Given the description of an element on the screen output the (x, y) to click on. 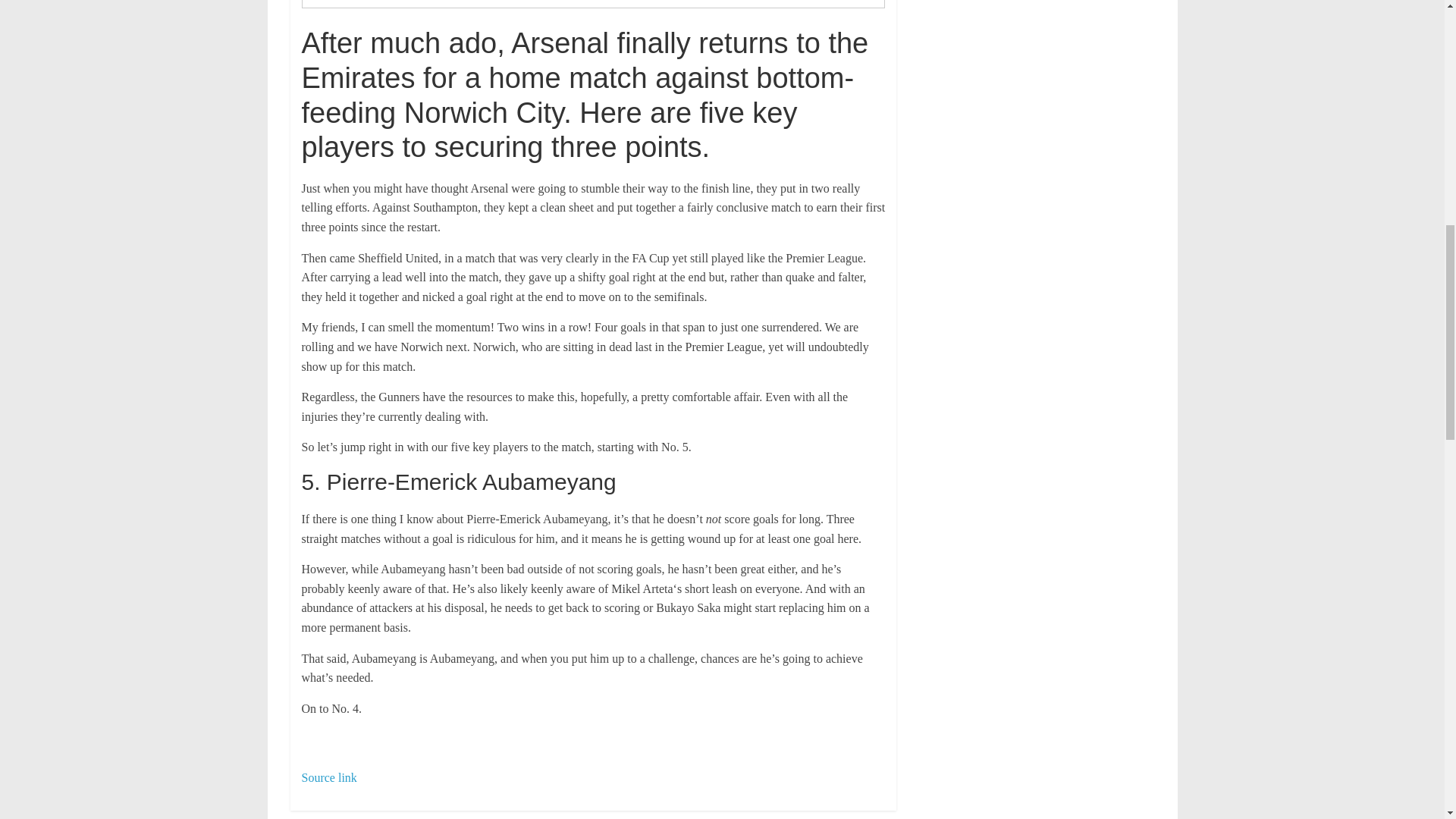
Source link (328, 777)
